Given the description of an element on the screen output the (x, y) to click on. 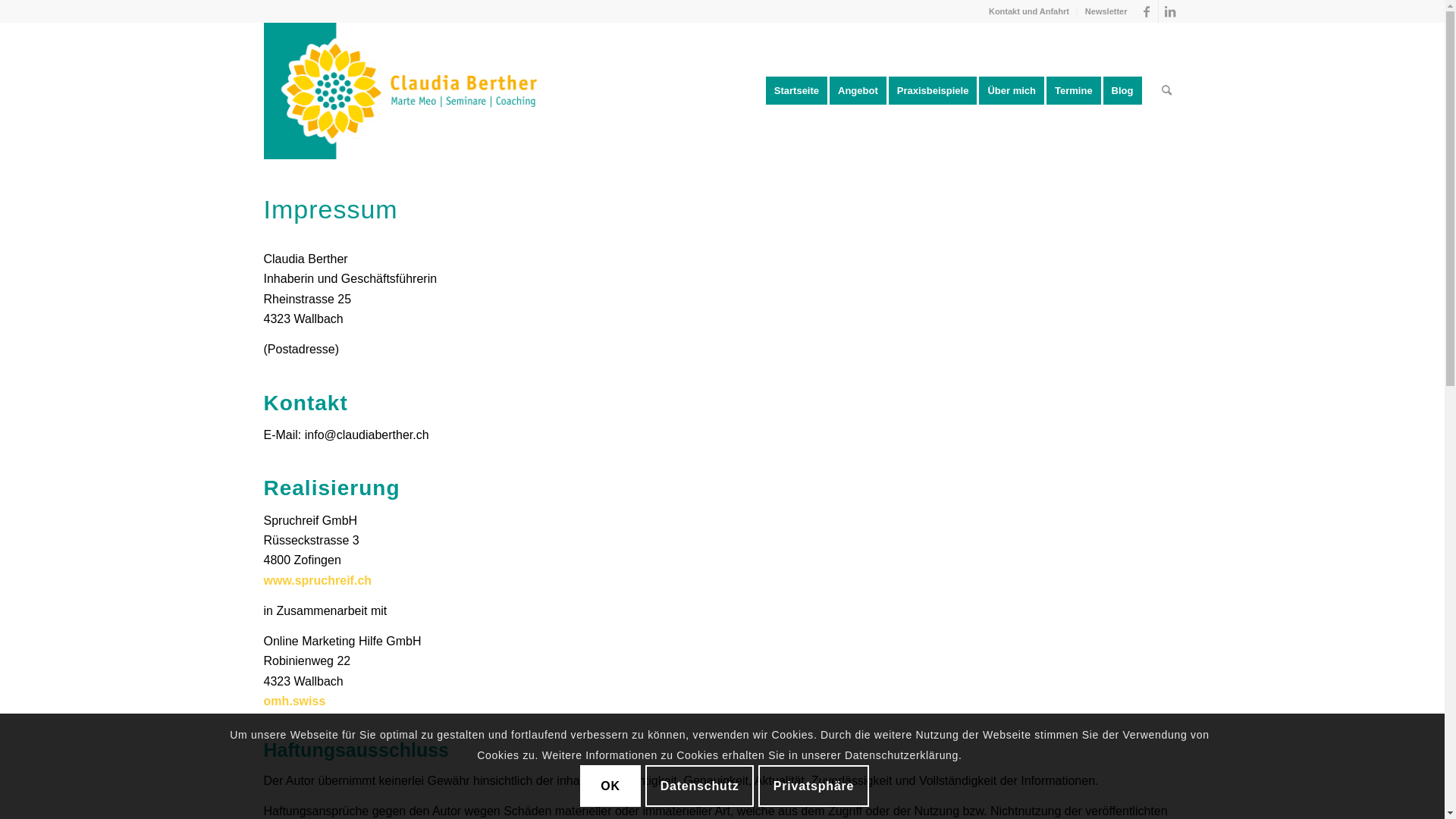
Kontakt und Anfahrt Element type: text (1028, 11)
Termine Element type: text (1078, 90)
Praxisbeispiele Element type: text (937, 90)
LinkedIn Element type: hover (1169, 11)
Datenschutz Element type: text (699, 785)
omh.swiss Element type: text (294, 700)
Facebook Element type: hover (1146, 11)
Blog Element type: text (1127, 90)
www.spruchreif.ch Element type: text (317, 580)
Startseite Element type: text (796, 90)
Newsletter Element type: text (1106, 11)
Angebot Element type: text (862, 90)
OK Element type: text (610, 785)
